Given the description of an element on the screen output the (x, y) to click on. 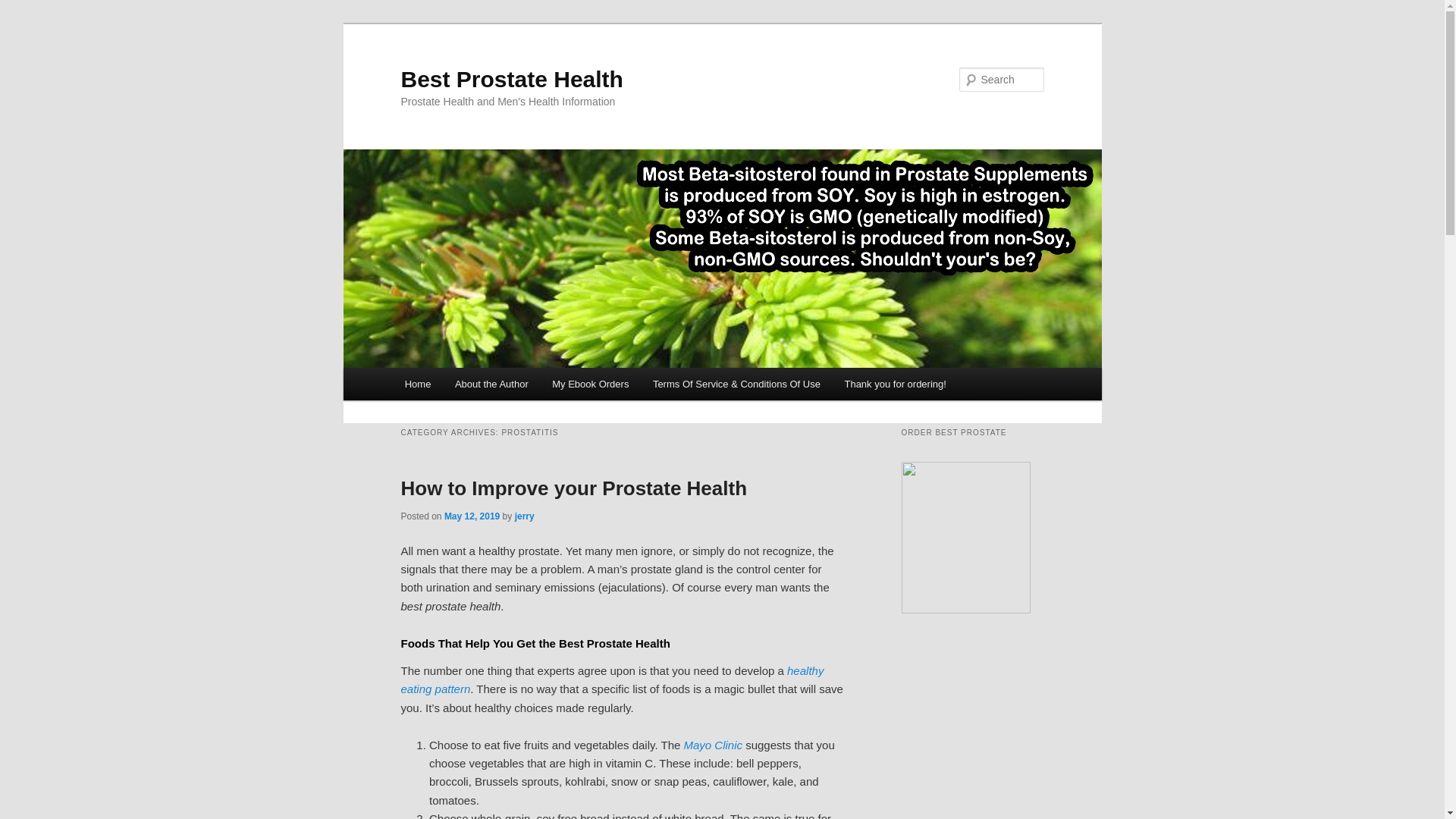
Best Prostate Health (511, 78)
About the Author (491, 383)
Search (24, 8)
jerry (524, 516)
My Ebook Orders (590, 383)
healthy eating pattern (612, 679)
View all posts by jerry (524, 516)
Thank you for ordering! (895, 383)
Home (417, 383)
1:51 am (471, 516)
How to Improve your Prostate Health (573, 487)
May 12, 2019 (471, 516)
Mayo Clinic (712, 744)
